Given the description of an element on the screen output the (x, y) to click on. 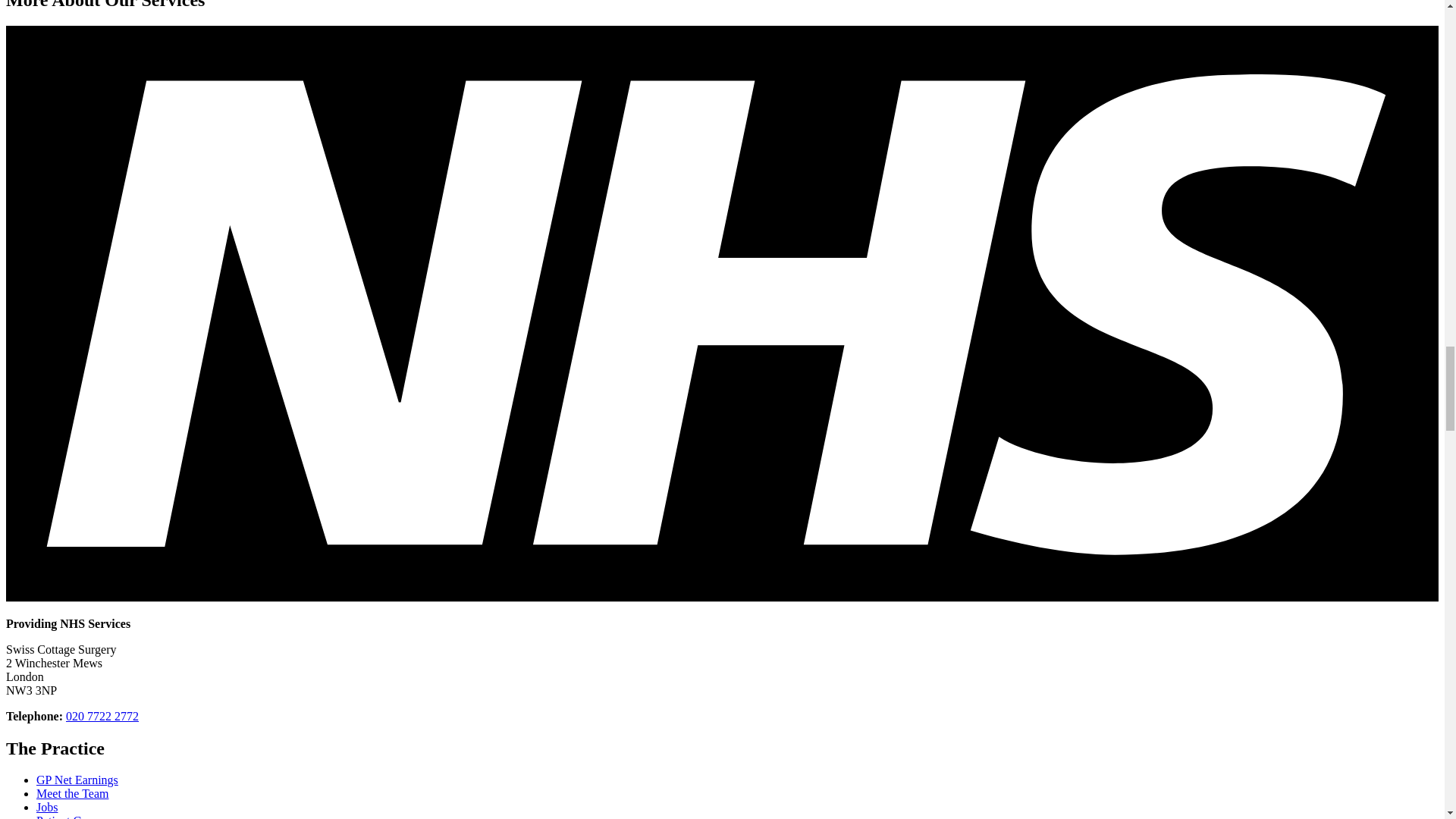
020 7722 2772 (101, 716)
Meet the Team (71, 793)
Jobs (47, 807)
Patient Group (69, 816)
GP Net Earnings (76, 779)
